Given the description of an element on the screen output the (x, y) to click on. 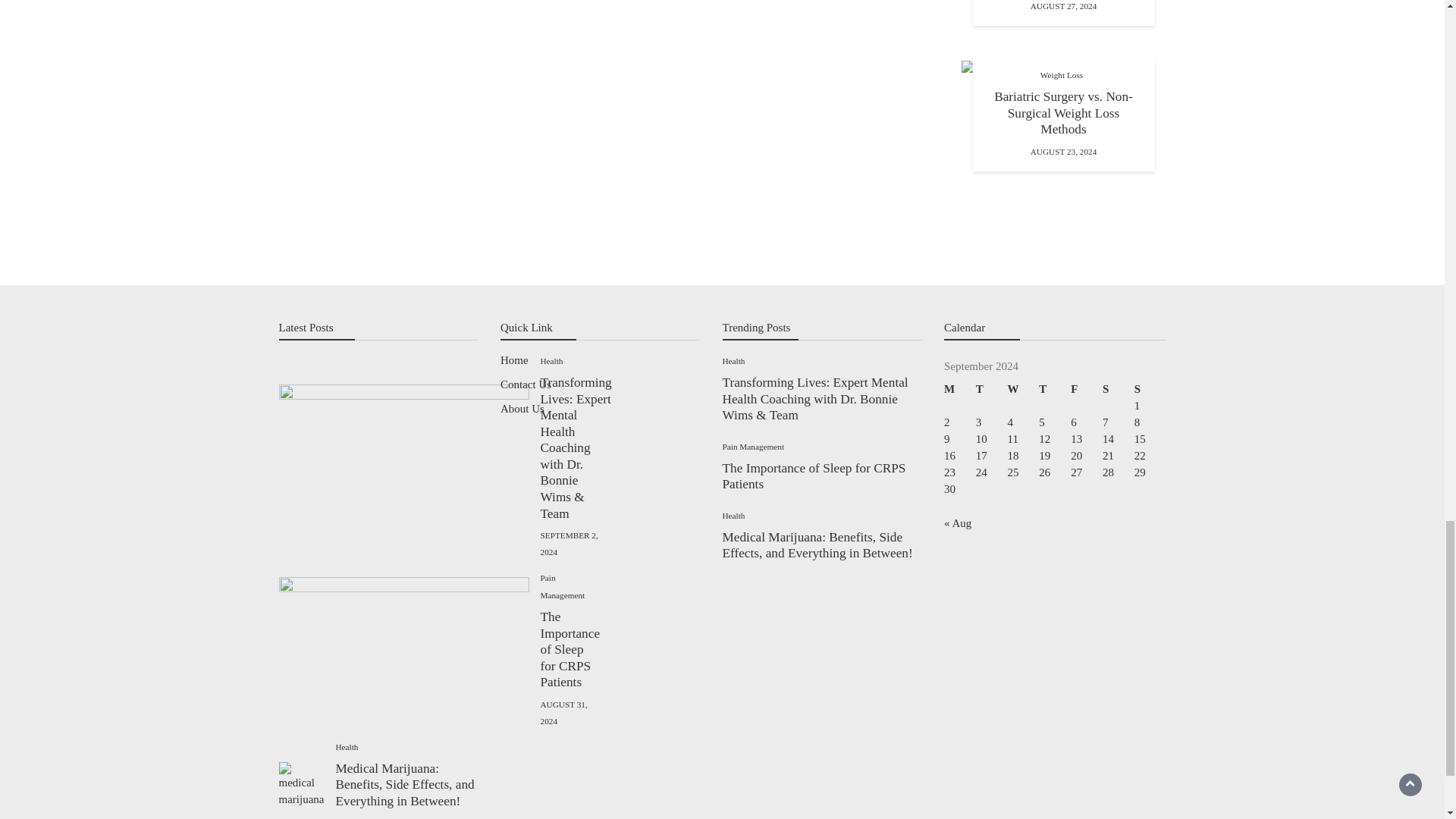
Thursday (1054, 388)
Sunday (1150, 388)
Monday (959, 388)
Wednesday (1023, 388)
Friday (1086, 388)
Tuesday (991, 388)
Saturday (1118, 388)
